Given the description of an element on the screen output the (x, y) to click on. 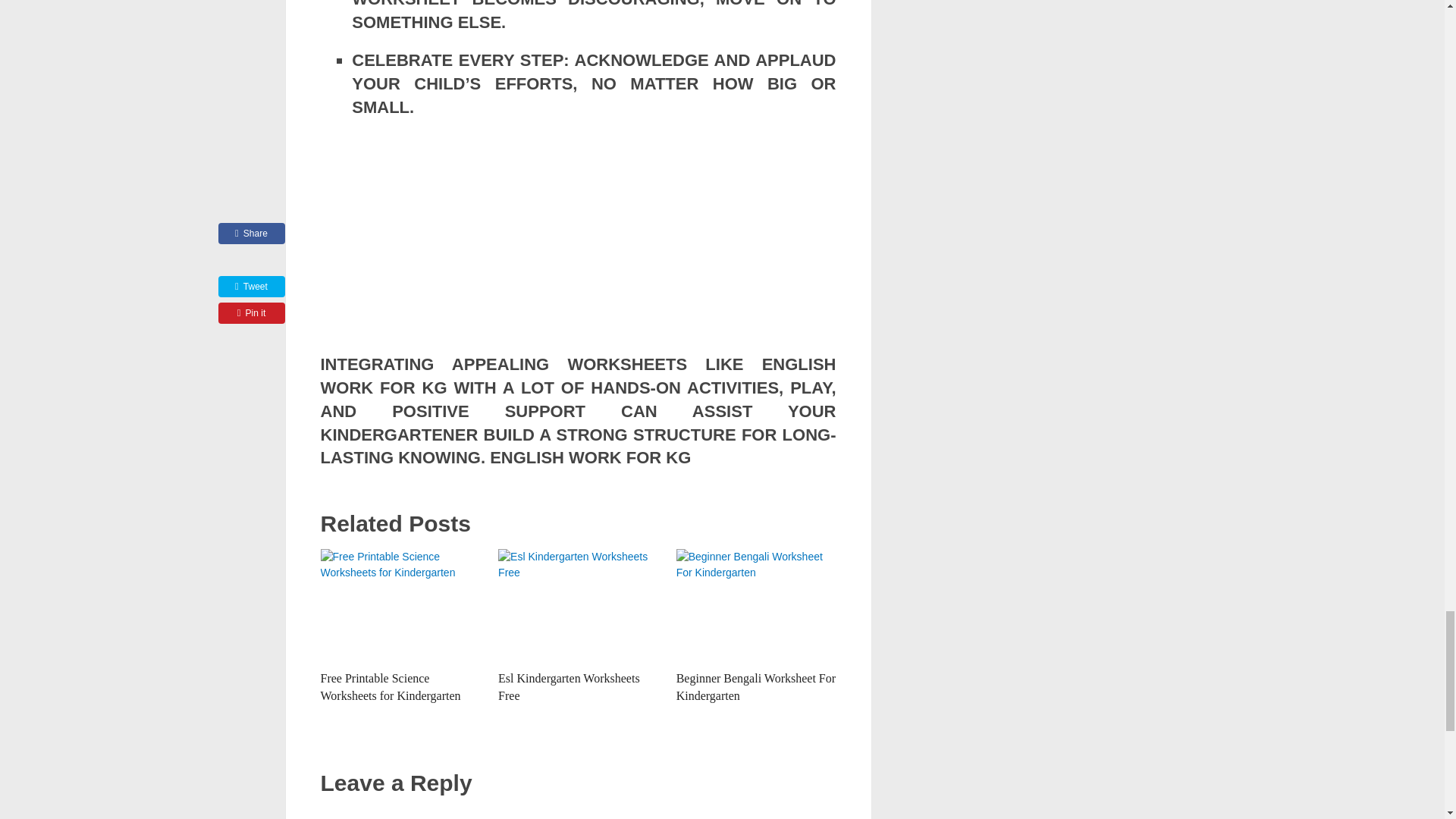
Beginner Bengali Worksheet For Kindergarten (756, 686)
Free Printable Science Worksheets for Kindergarten (400, 605)
Esl Kindergarten Worksheets Free (568, 686)
Esl Kindergarten Worksheets Free (577, 605)
Beginner Bengali Worksheet For Kindergarten (756, 605)
Free Printable Science Worksheets for Kindergarten (390, 686)
Free Printable Science Worksheets for Kindergarten (390, 686)
Esl Kindergarten Worksheets Free (568, 686)
